Given the description of an element on the screen output the (x, y) to click on. 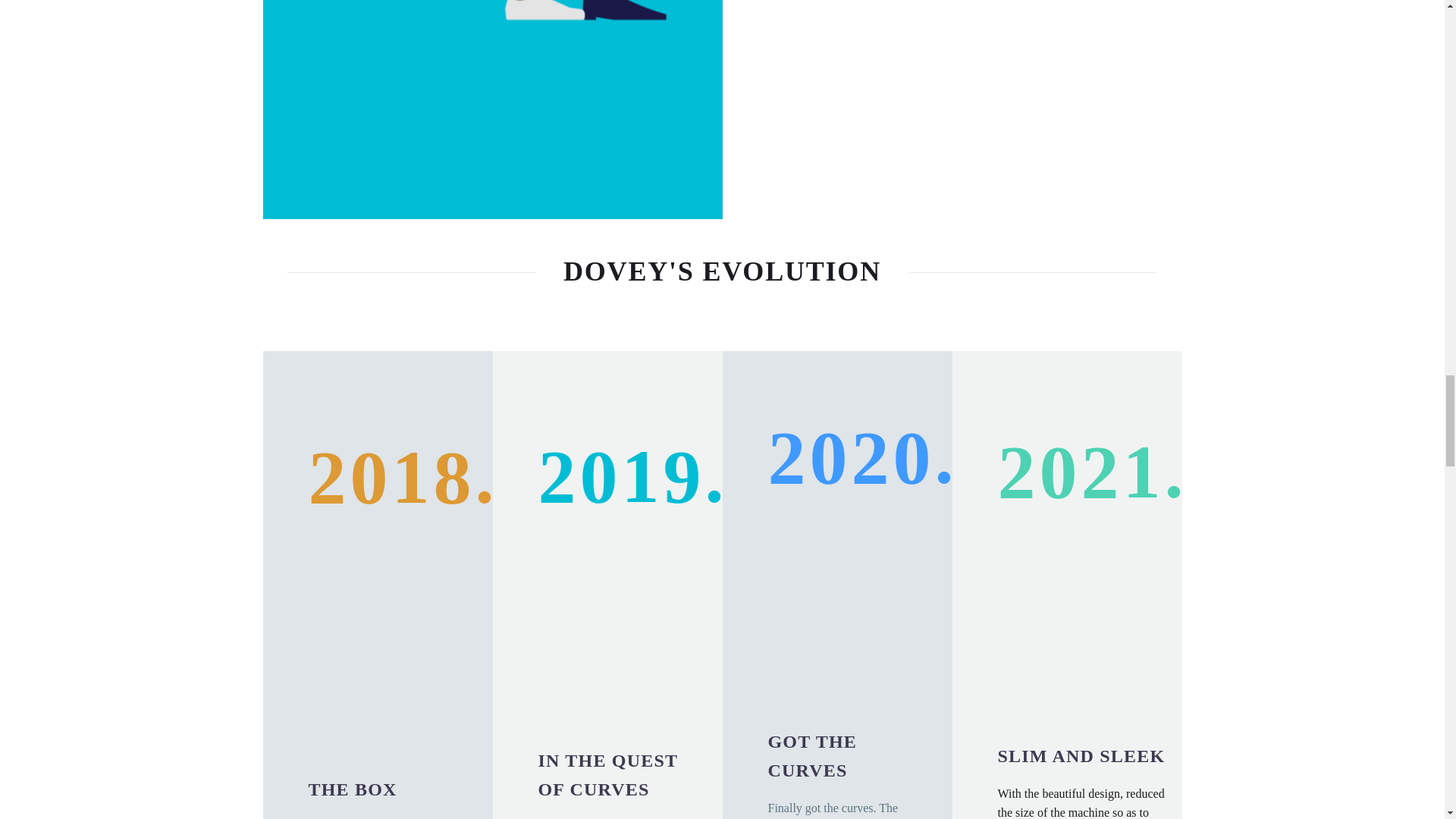
2021 (1054, 647)
2018 (364, 648)
2019 (595, 652)
2020 (823, 633)
